Given the description of an element on the screen output the (x, y) to click on. 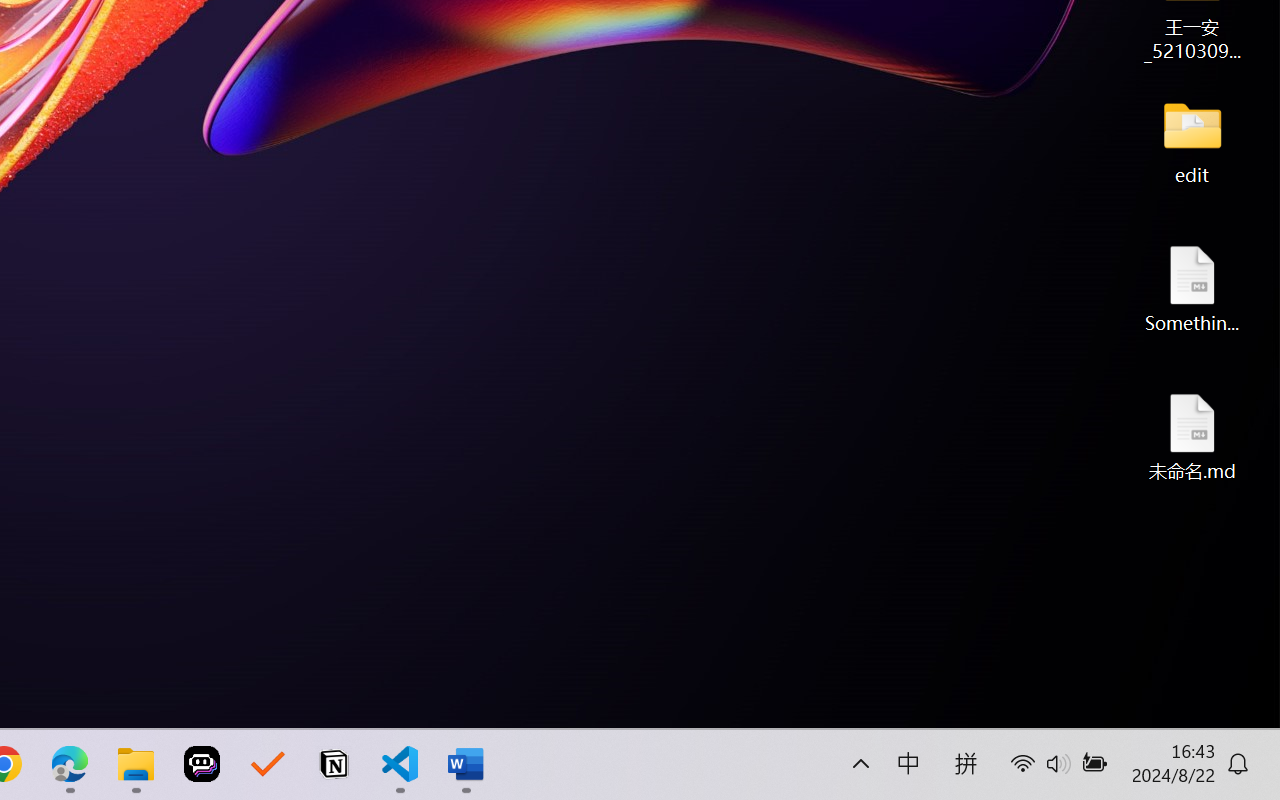
Something.md (1192, 288)
